Given the description of an element on the screen output the (x, y) to click on. 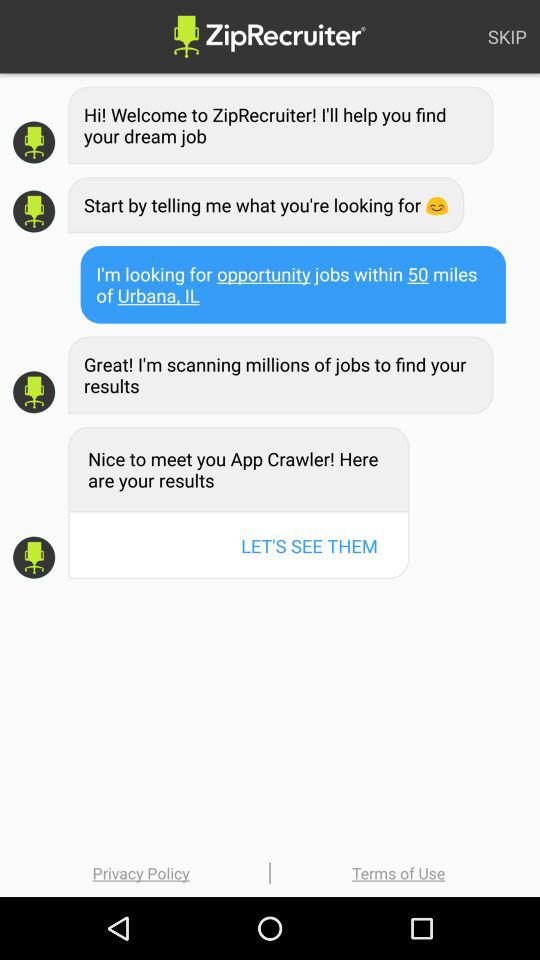
click the item at the bottom left corner (141, 872)
